Given the description of an element on the screen output the (x, y) to click on. 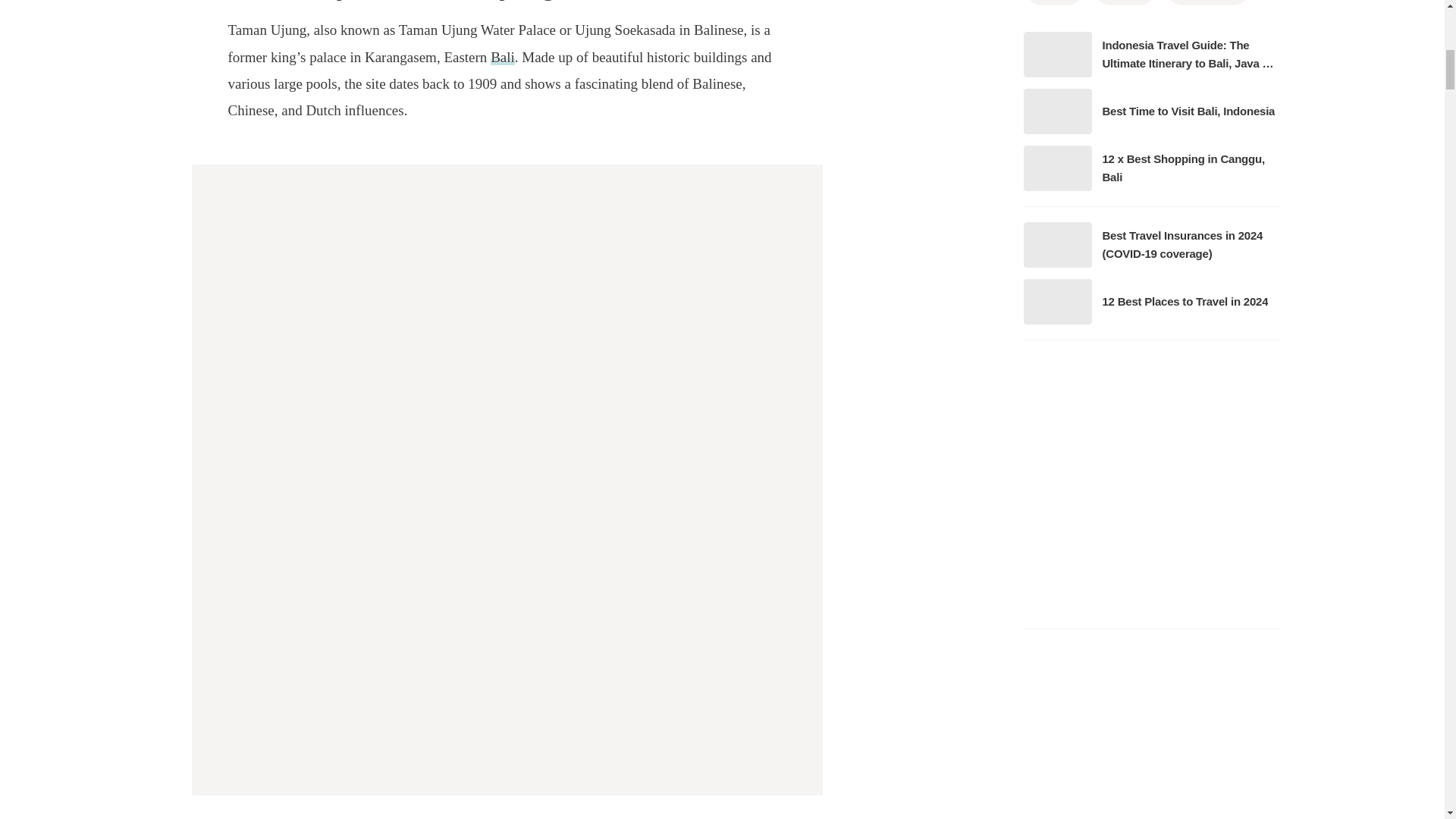
Best Time to Visit Bali, Indonesia (1151, 111)
12 Best Places to Travel in 2024 (1151, 301)
Bali (502, 57)
12 x Best Shopping in Canggu, Bali (1151, 168)
